Given the description of an element on the screen output the (x, y) to click on. 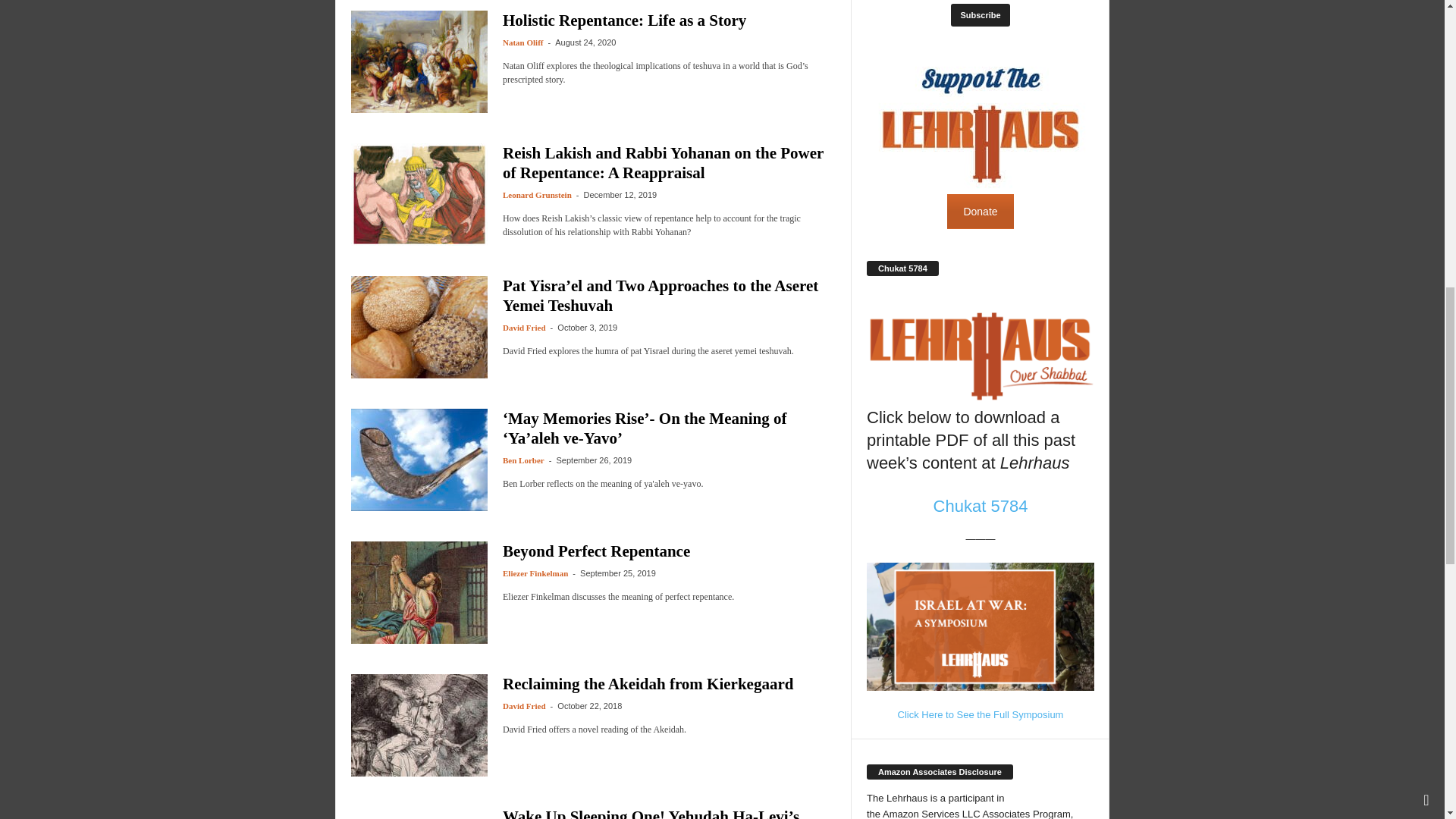
Subscribe (979, 15)
